Given the description of an element on the screen output the (x, y) to click on. 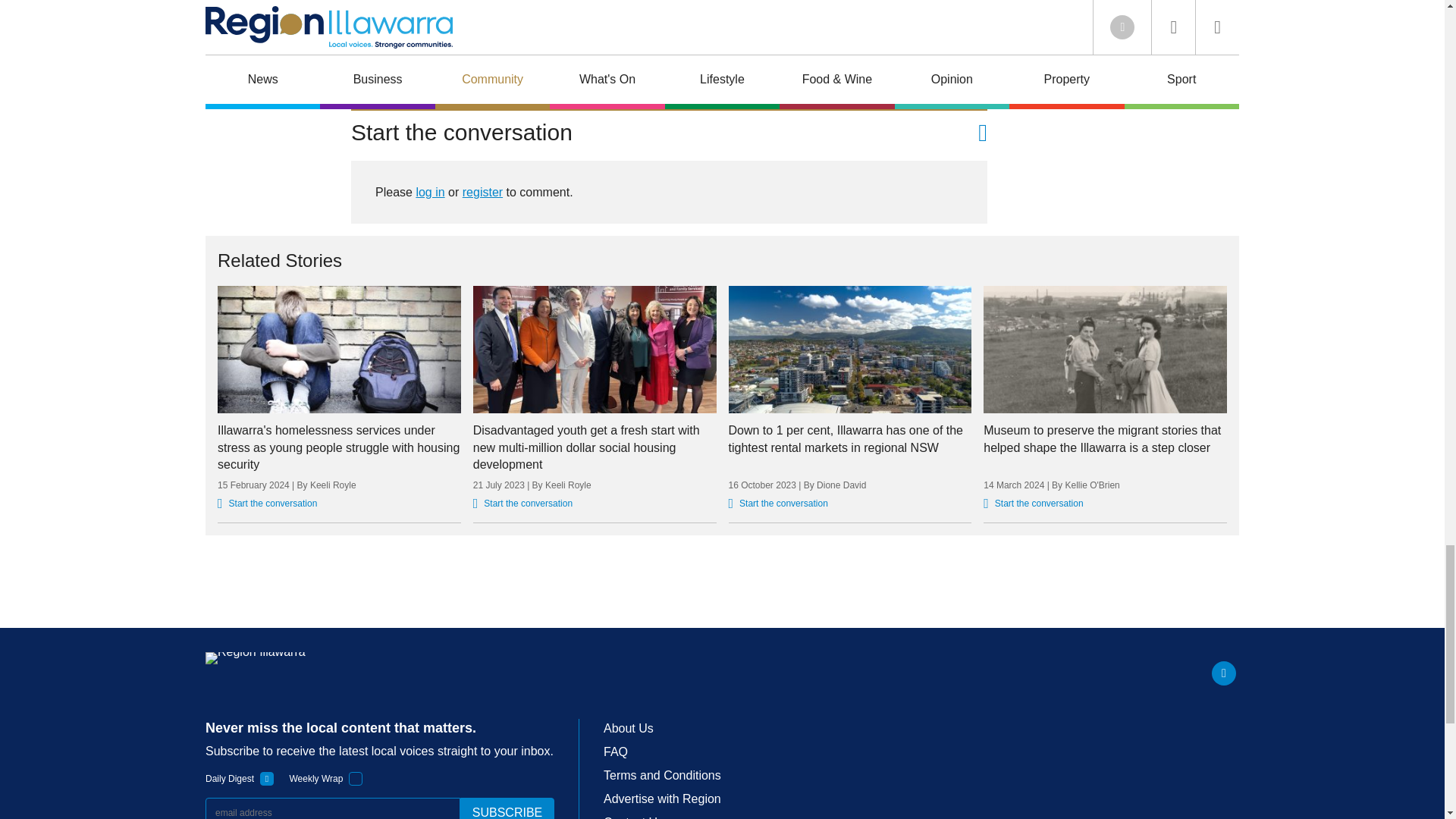
1 (355, 778)
subscribe (507, 808)
Facebook (1223, 672)
1 (266, 778)
